Given the description of an element on the screen output the (x, y) to click on. 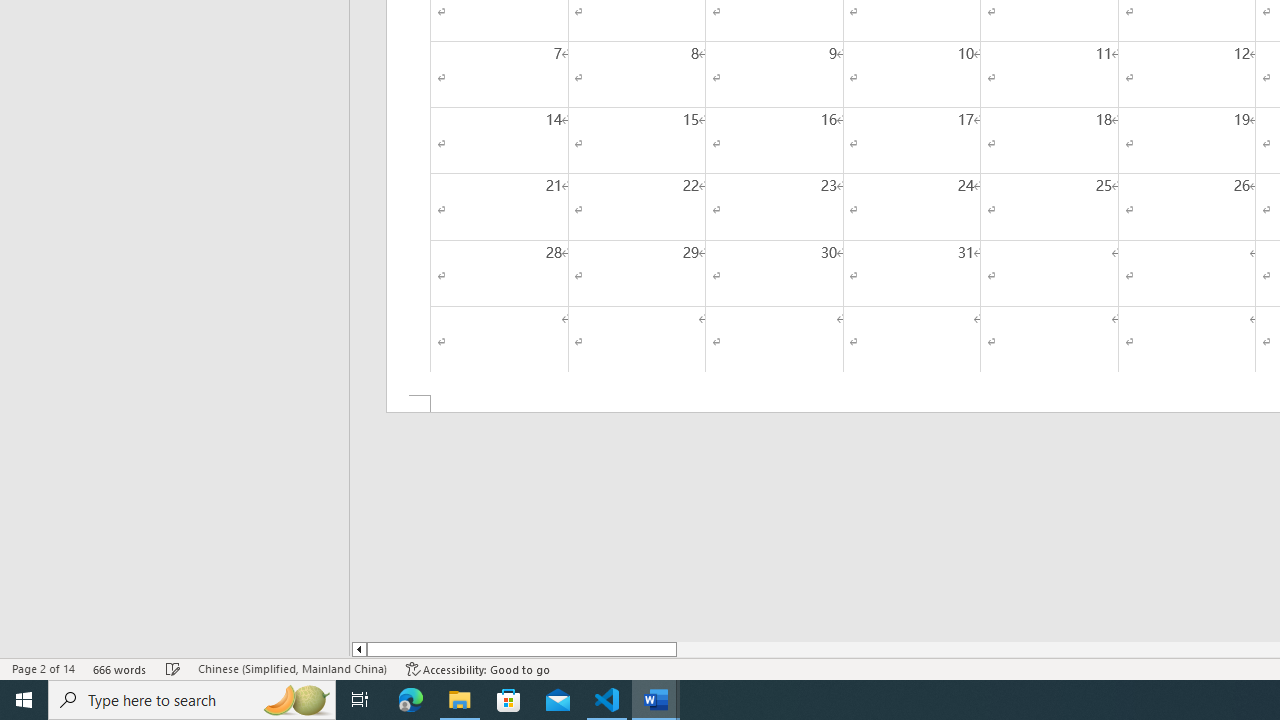
Column left (358, 649)
Page Number Page 2 of 14 (43, 668)
Word Count 666 words (119, 668)
